Given the description of an element on the screen output the (x, y) to click on. 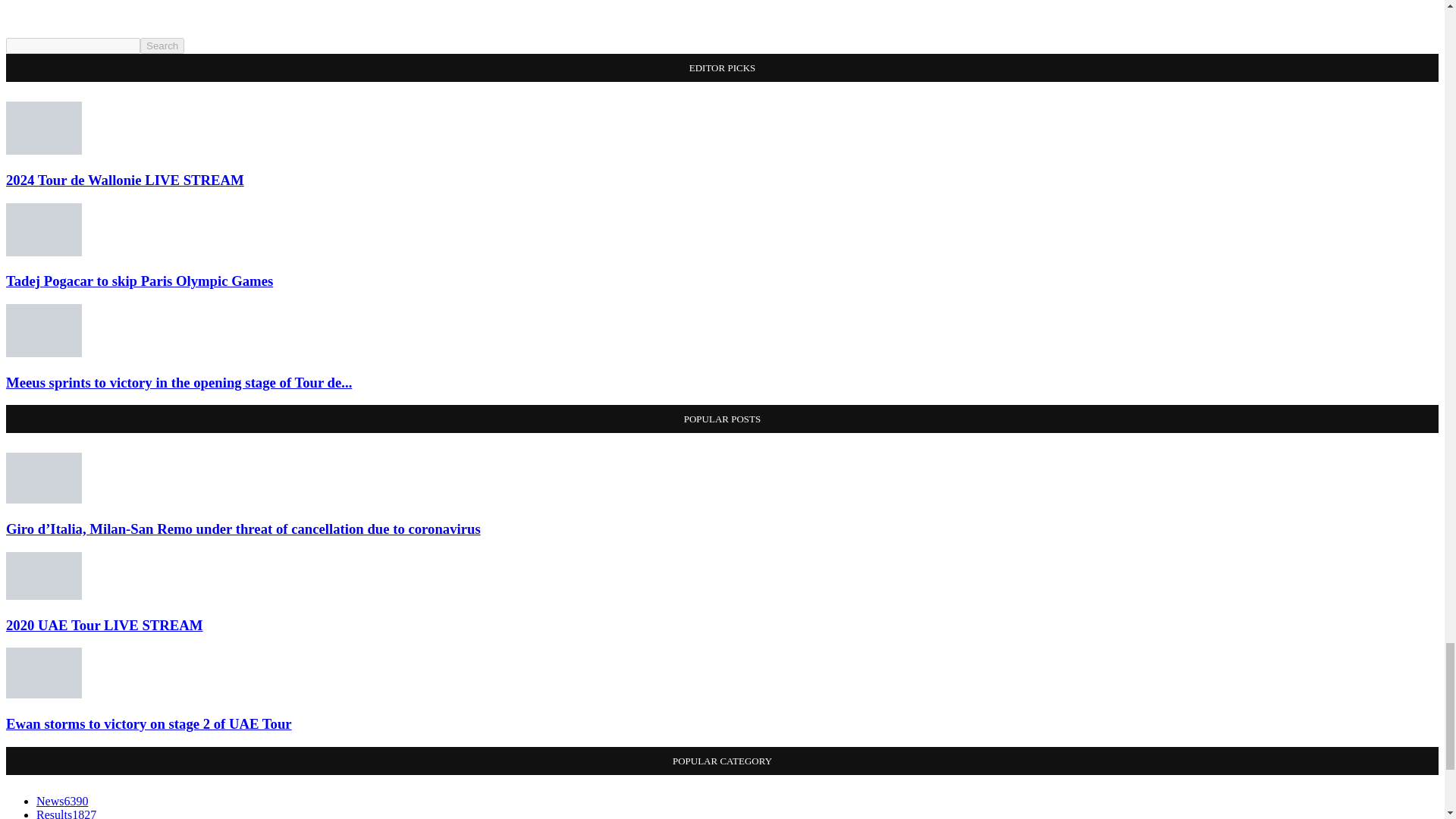
Search (161, 45)
